Given the description of an element on the screen output the (x, y) to click on. 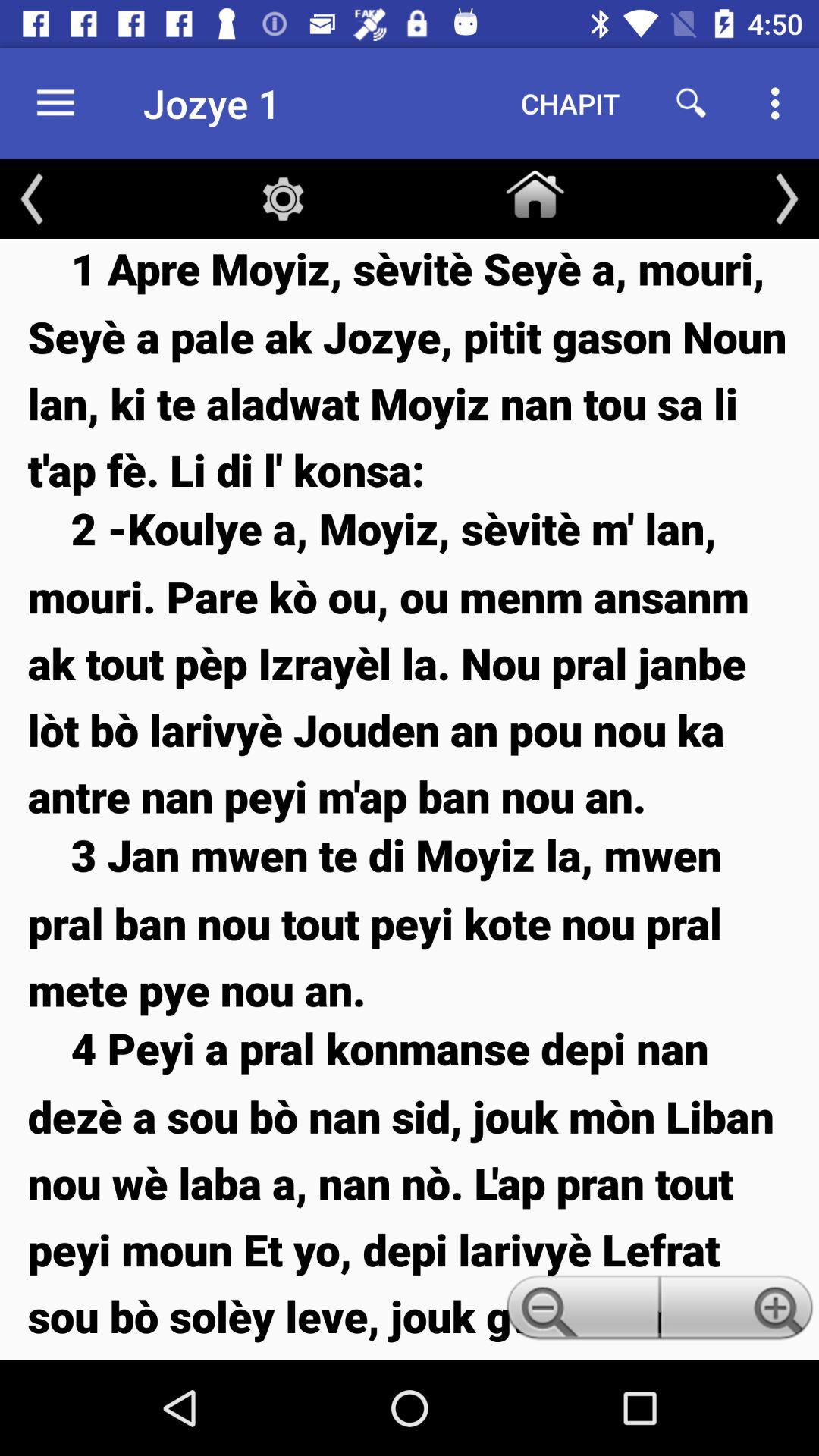
choose the icon above the 3 jan mwen (409, 661)
